Given the description of an element on the screen output the (x, y) to click on. 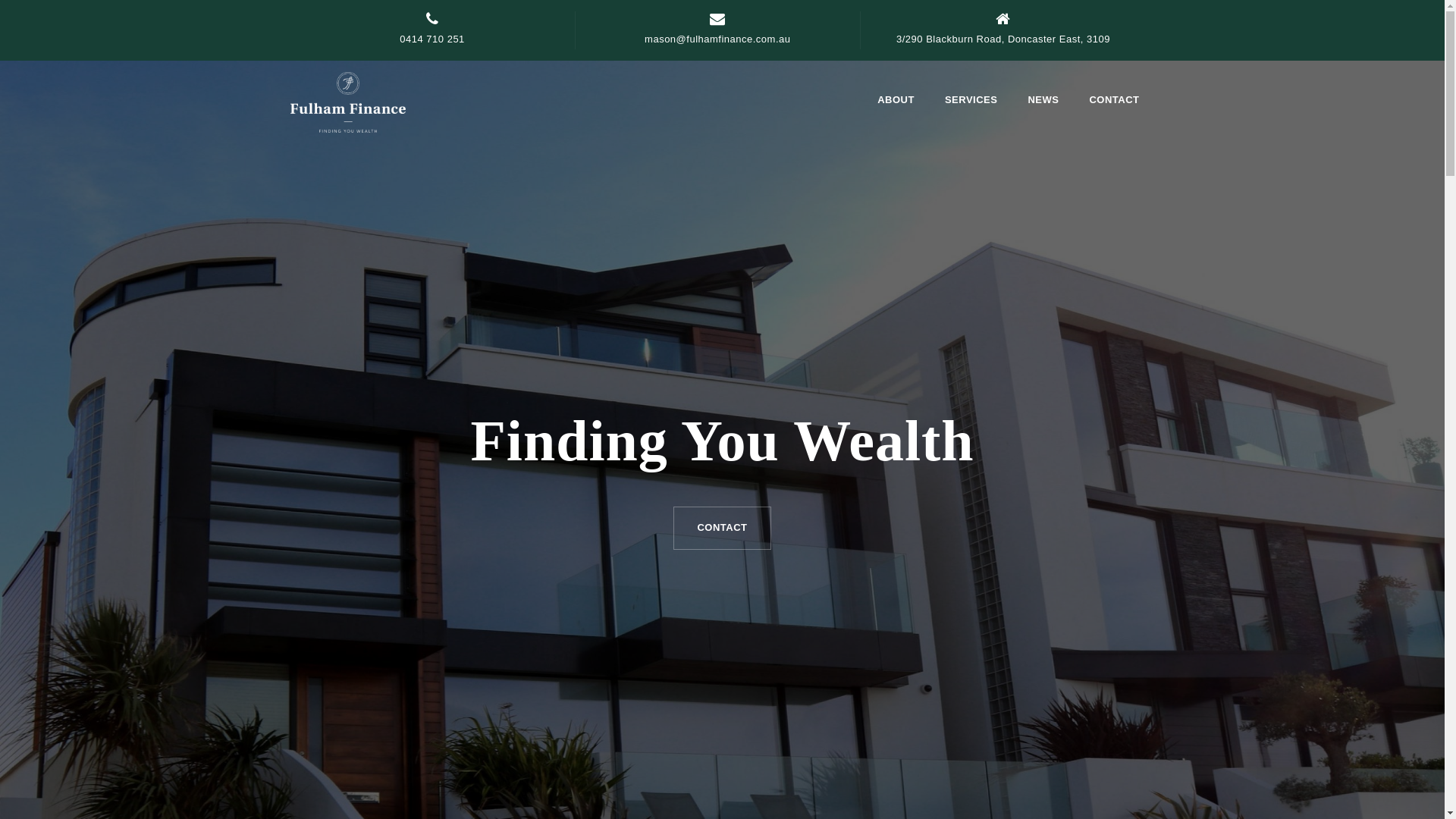
Search Element type: text (43, 20)
NEWS Element type: text (1042, 102)
CONTACT Element type: text (1113, 102)
Skip to content Element type: text (0, 0)
CONTACT Element type: text (721, 527)
0414 710 251 Element type: text (431, 38)
mason@fulhamfinance.com.au Element type: text (717, 38)
SERVICES Element type: text (970, 102)
Fulham Finance Element type: hover (346, 100)
ABOUT Element type: text (895, 102)
